Given the description of an element on the screen output the (x, y) to click on. 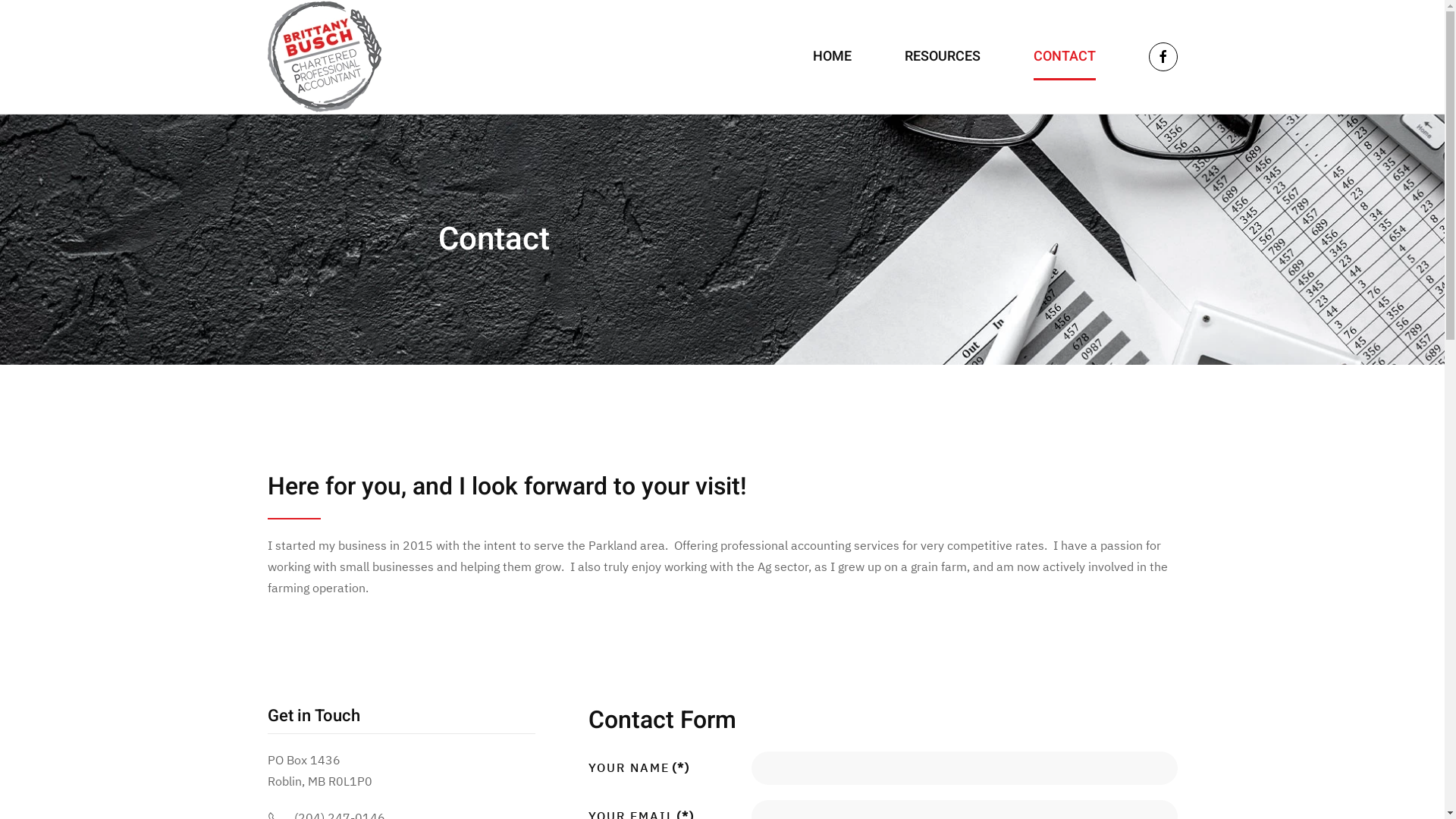
HOME Element type: text (831, 56)
RESOURCES Element type: text (941, 56)
CONTACT Element type: text (1063, 56)
